Given the description of an element on the screen output the (x, y) to click on. 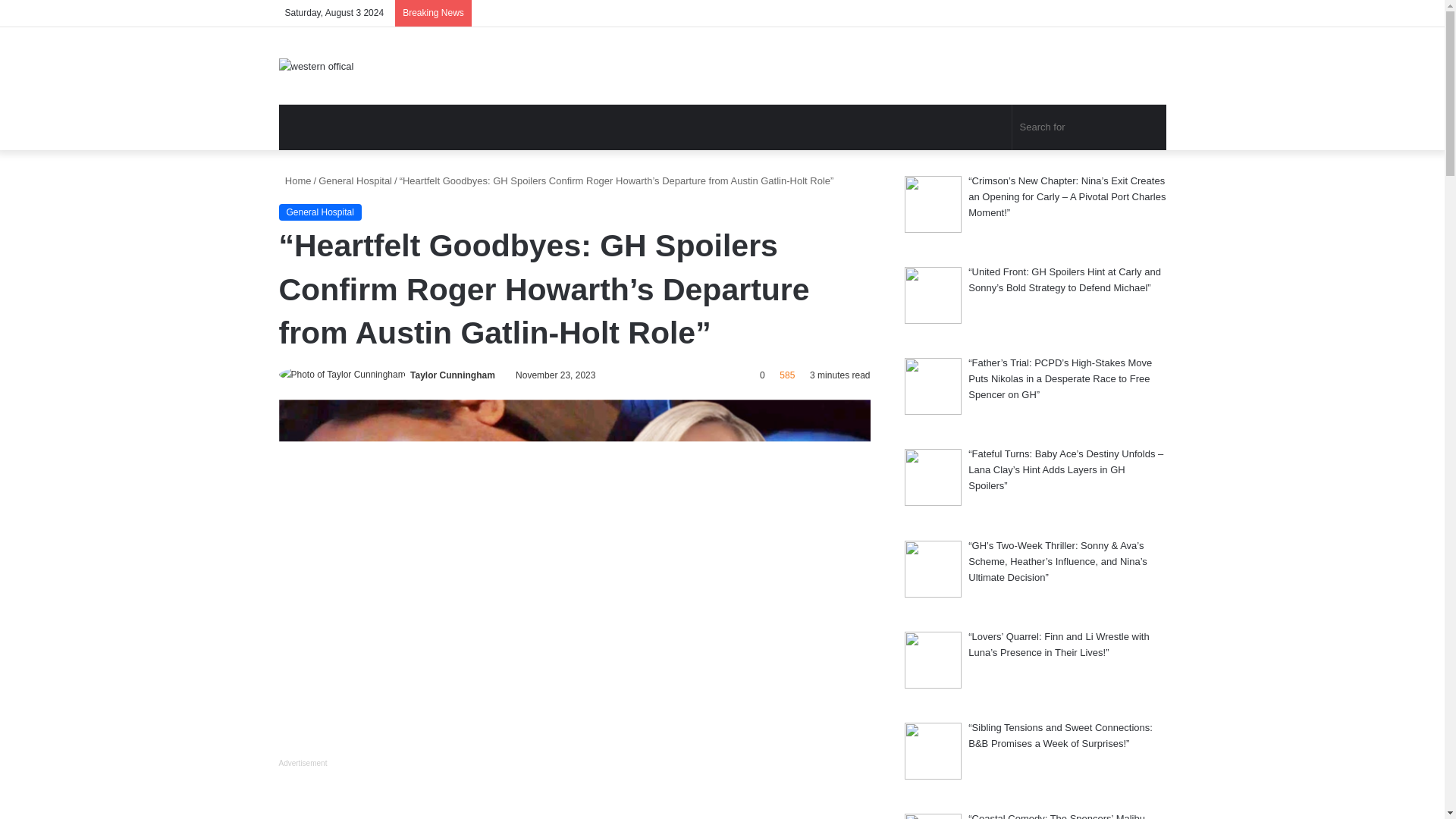
western offical (316, 65)
General Hospital (354, 180)
Search for (1088, 126)
Taylor Cunningham (452, 375)
Home (295, 180)
Taylor Cunningham (452, 375)
General Hospital (320, 211)
